Given the description of an element on the screen output the (x, y) to click on. 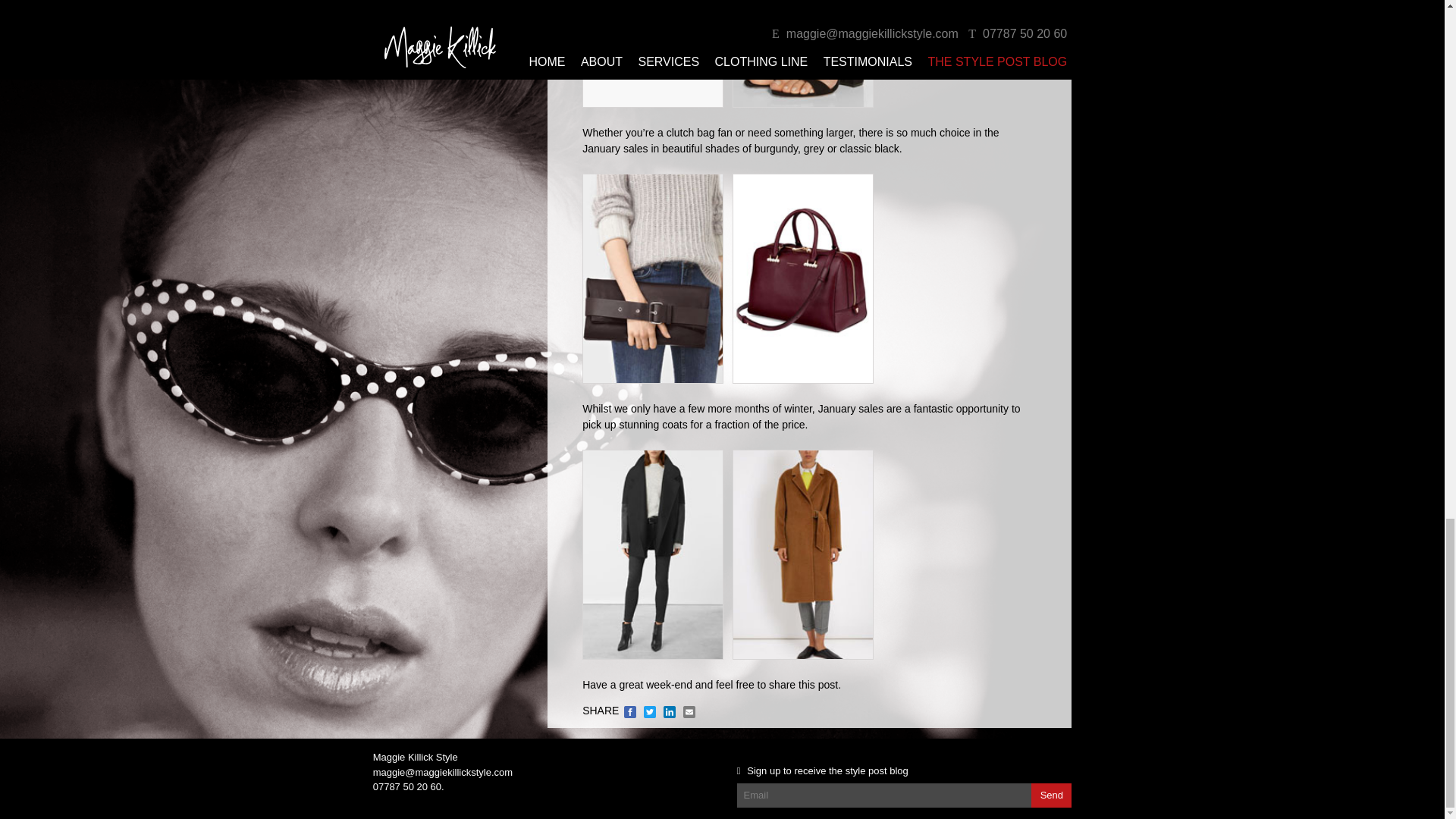
Send (1050, 795)
